Given the description of an element on the screen output the (x, y) to click on. 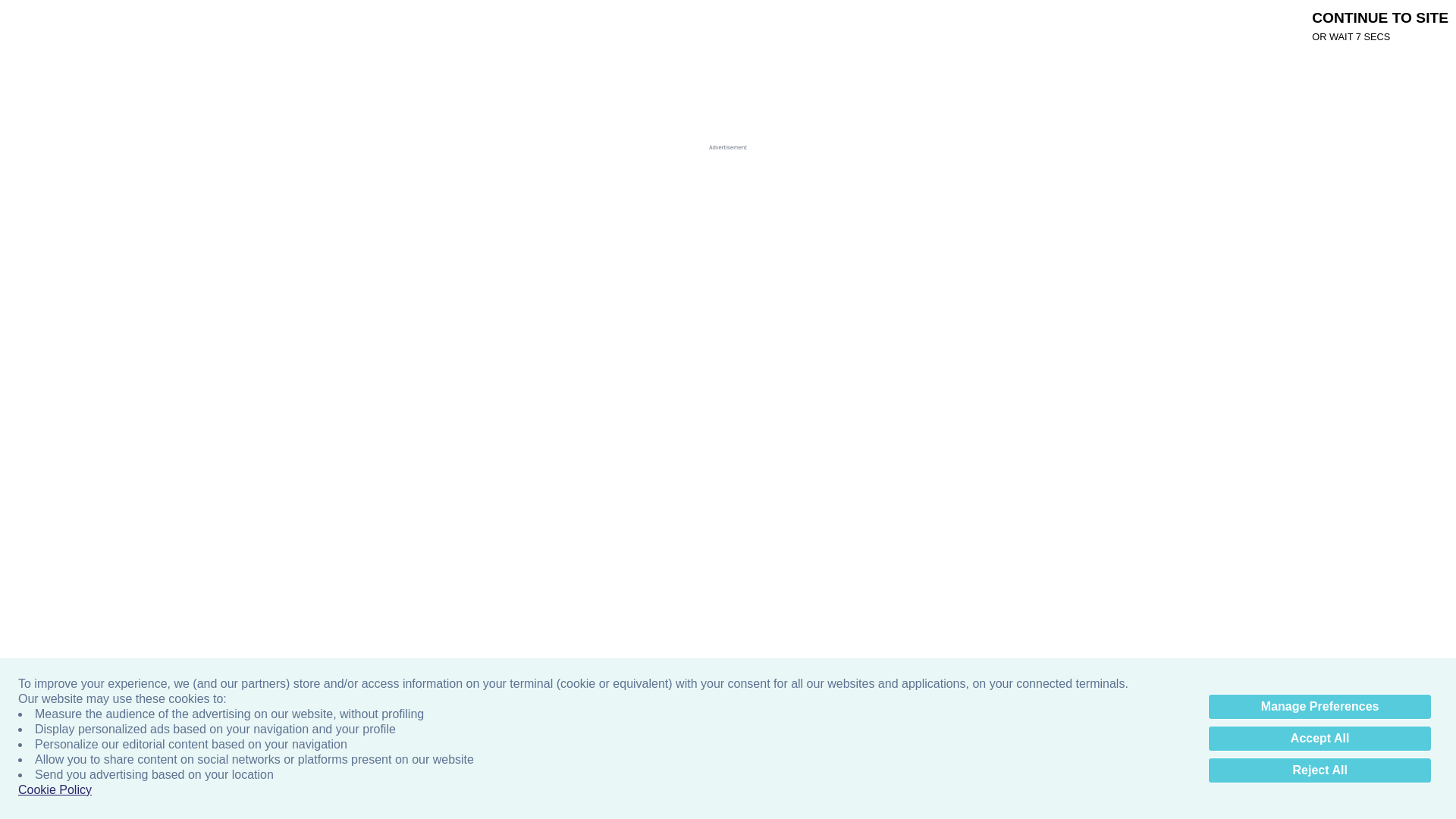
Back to Basics: The Role of pH in Retention and Selectivity (322, 406)
News (520, 23)
Manage Preferences (1319, 706)
Accept All (1319, 738)
Columns (469, 23)
App Notes (580, 23)
Reject All (1319, 769)
Back to Basics: The Role of pH in Retention and Selectivity (250, 406)
3rd party ad content (715, 131)
Publications (404, 23)
Cookie Policy (54, 789)
